Given the description of an element on the screen output the (x, y) to click on. 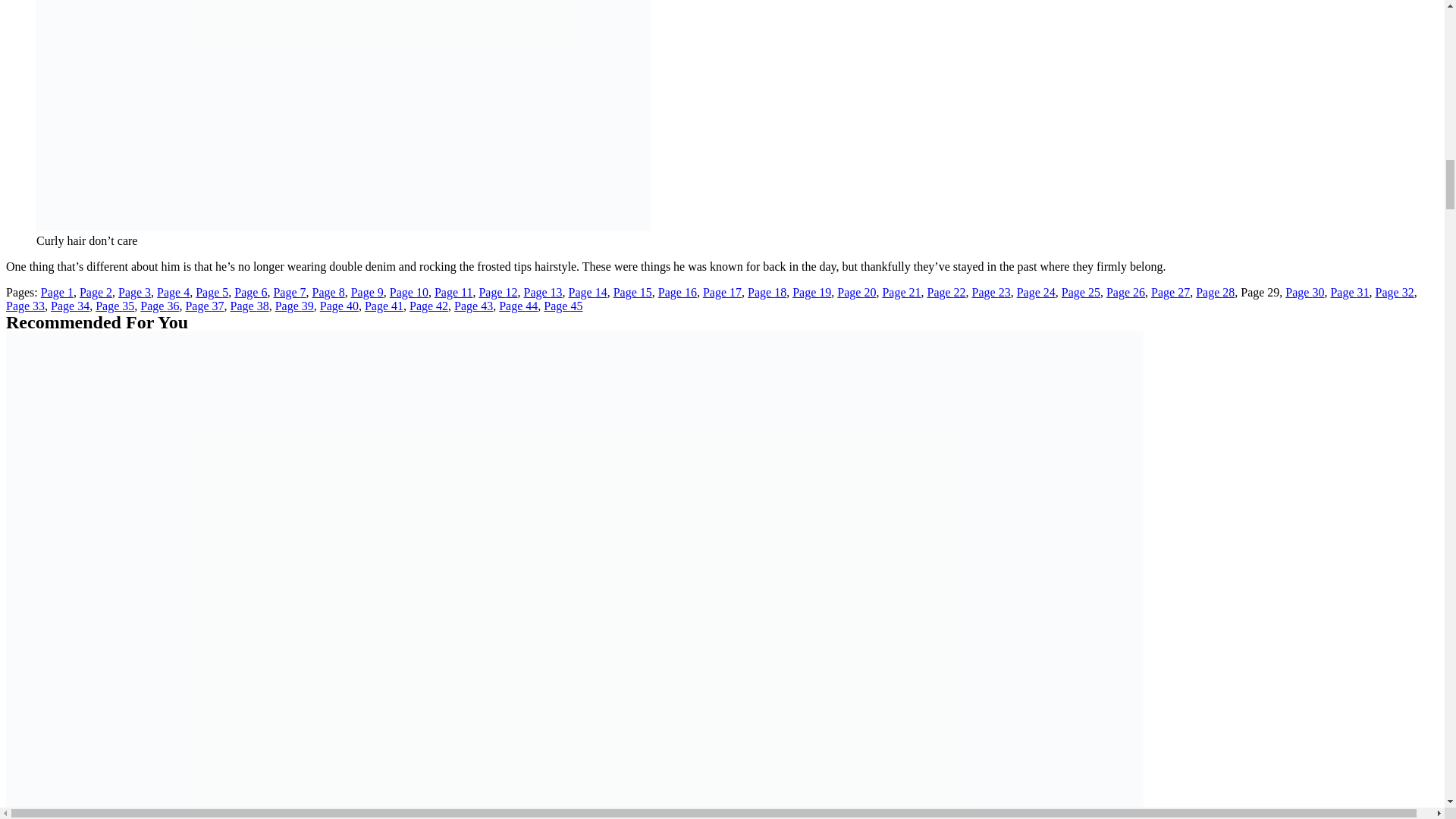
Page 21 (901, 291)
Page 19 (811, 291)
Page 4 (173, 291)
Page 15 (632, 291)
Page 9 (367, 291)
Page 6 (250, 291)
Page 18 (767, 291)
Page 2 (96, 291)
Page 14 (588, 291)
Page 13 (542, 291)
Page 17 (722, 291)
Page 7 (289, 291)
Page 22 (945, 291)
Page 16 (677, 291)
Page 3 (134, 291)
